Given the description of an element on the screen output the (x, y) to click on. 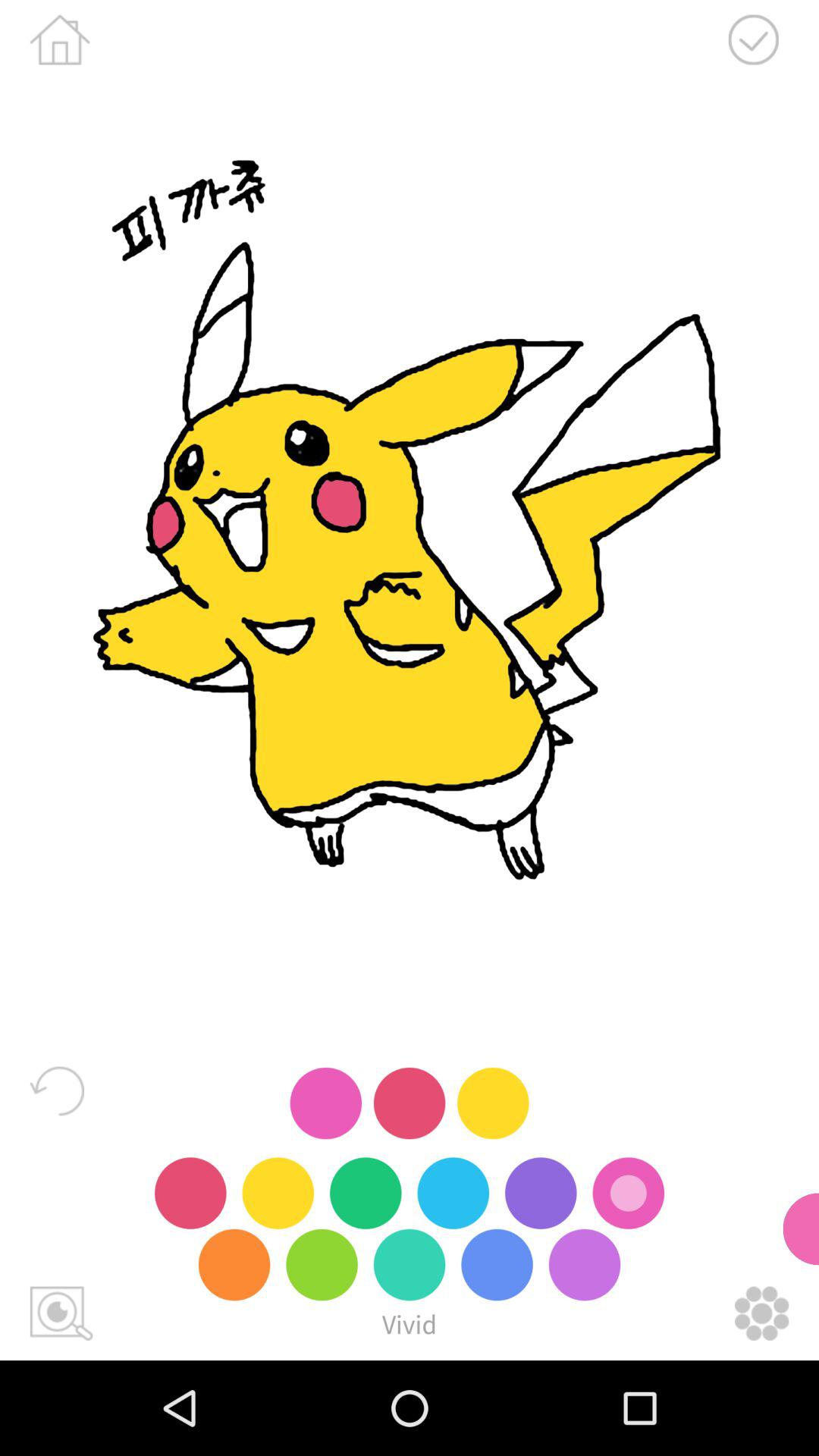
refresh (57, 1090)
